Given the description of an element on the screen output the (x, y) to click on. 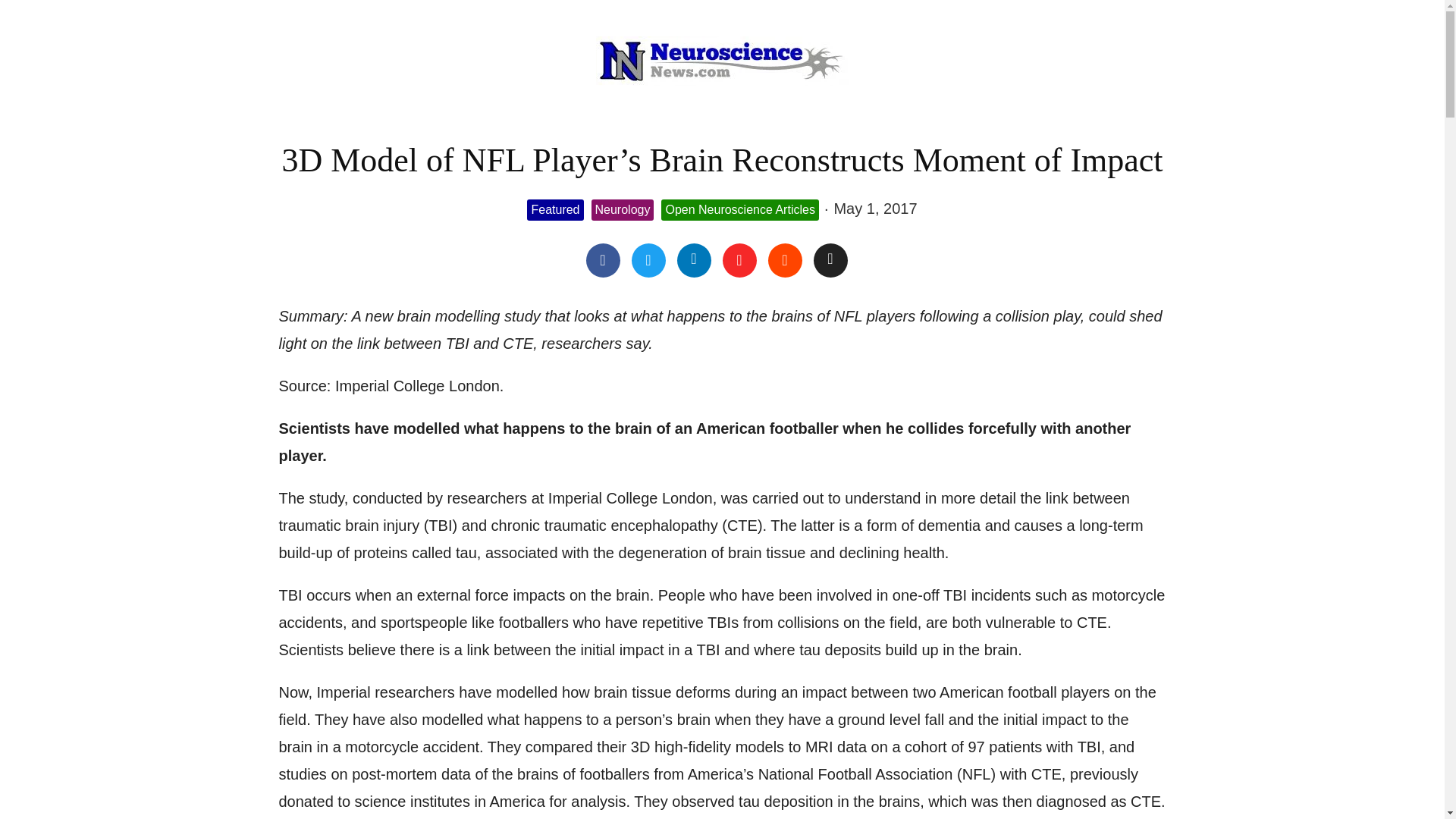
Open Neuroscience Articles (739, 210)
Neurology (622, 210)
Featured (555, 210)
